Given the description of an element on the screen output the (x, y) to click on. 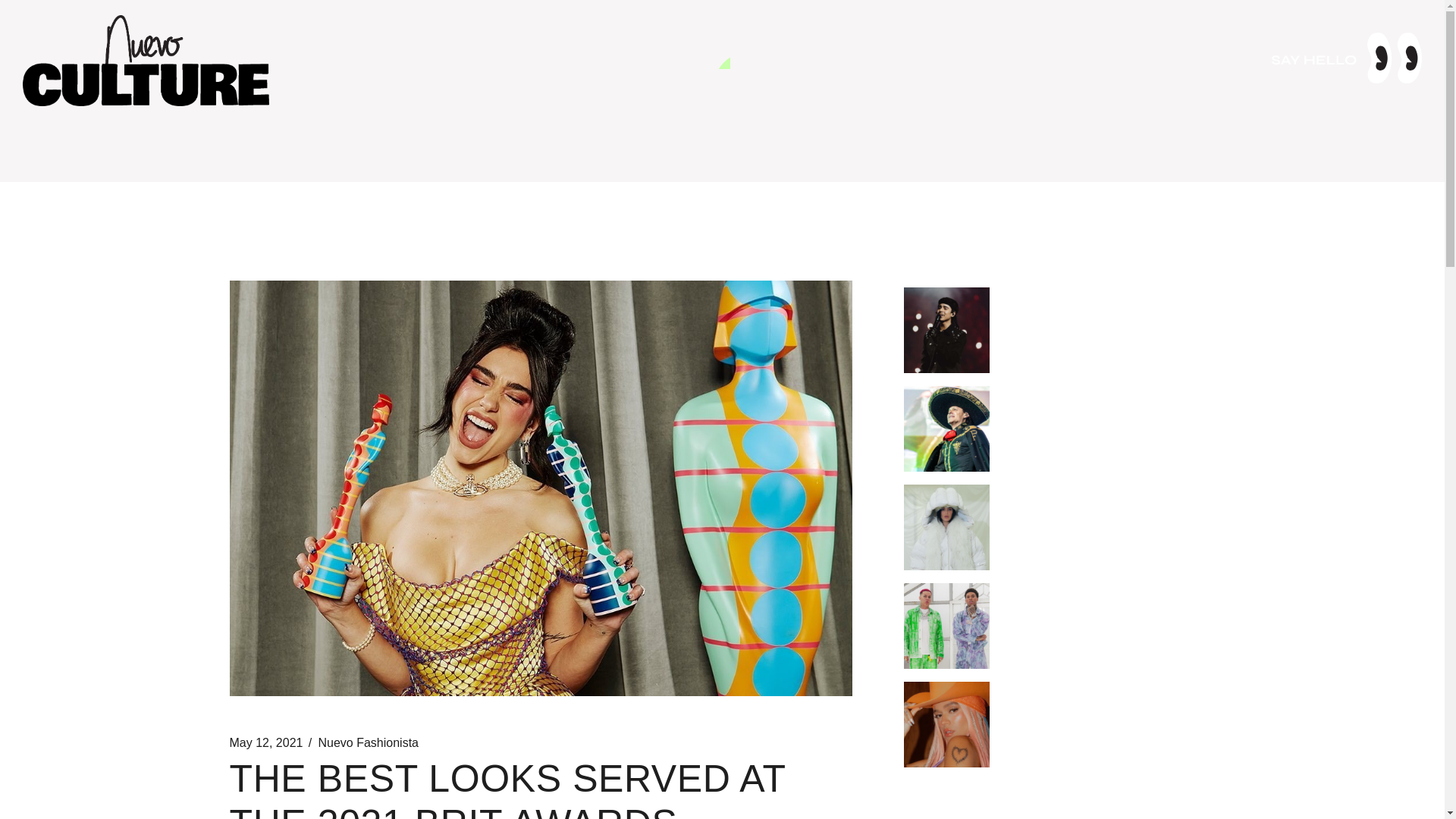
NATHY PELUSO WOWS IN NPR TINY DESK PERFORMANCE (1097, 506)
May 12, 2021 (265, 743)
KAROL G DOMINATES THE 2024 HEAT LATIN MUSIC AWARDS (1101, 703)
Nuevo Fashionista (368, 743)
